Given the description of an element on the screen output the (x, y) to click on. 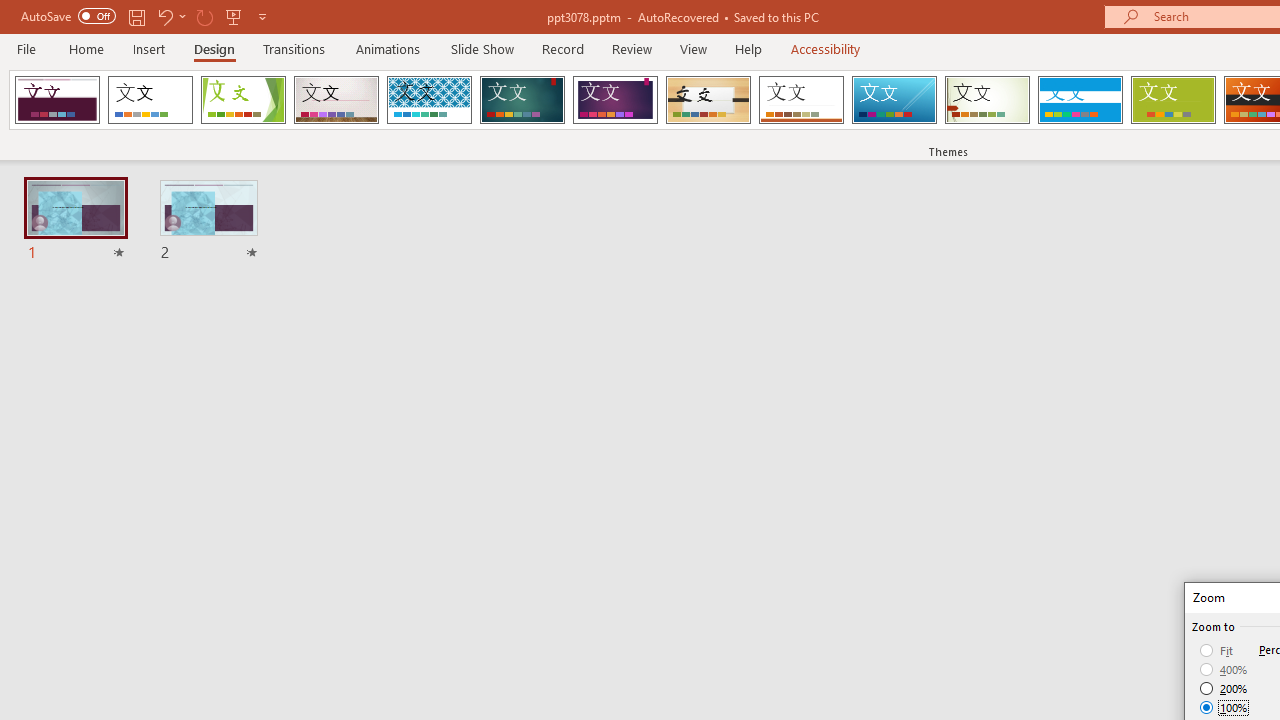
System (10, 11)
Organic (708, 100)
Accessibility (825, 48)
Redo (204, 15)
Wisp (987, 100)
Customize Quick Access Toolbar (262, 15)
Ion Boardroom (615, 100)
Droplet (57, 100)
Slide Show (481, 48)
Quick Access Toolbar (145, 16)
AutoSave (68, 16)
Transitions (294, 48)
From Beginning (234, 15)
Retrospect (801, 100)
View (693, 48)
